Given the description of an element on the screen output the (x, y) to click on. 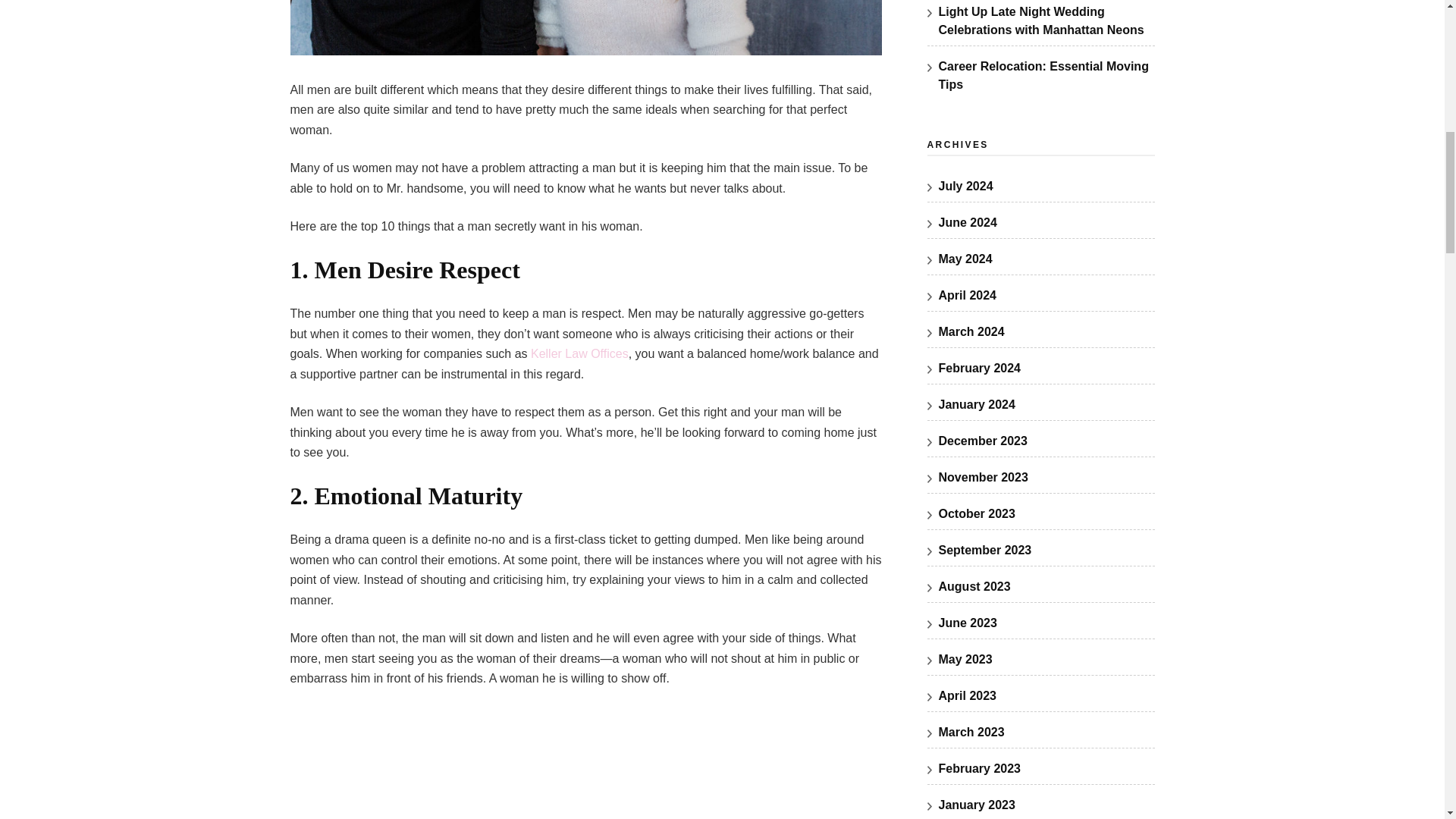
Keller Law Offices (579, 353)
June 2024 (968, 222)
Career Relocation: Essential Moving Tips (1043, 74)
April 2024 (967, 295)
July 2024 (965, 185)
May 2024 (965, 258)
